Given the description of an element on the screen output the (x, y) to click on. 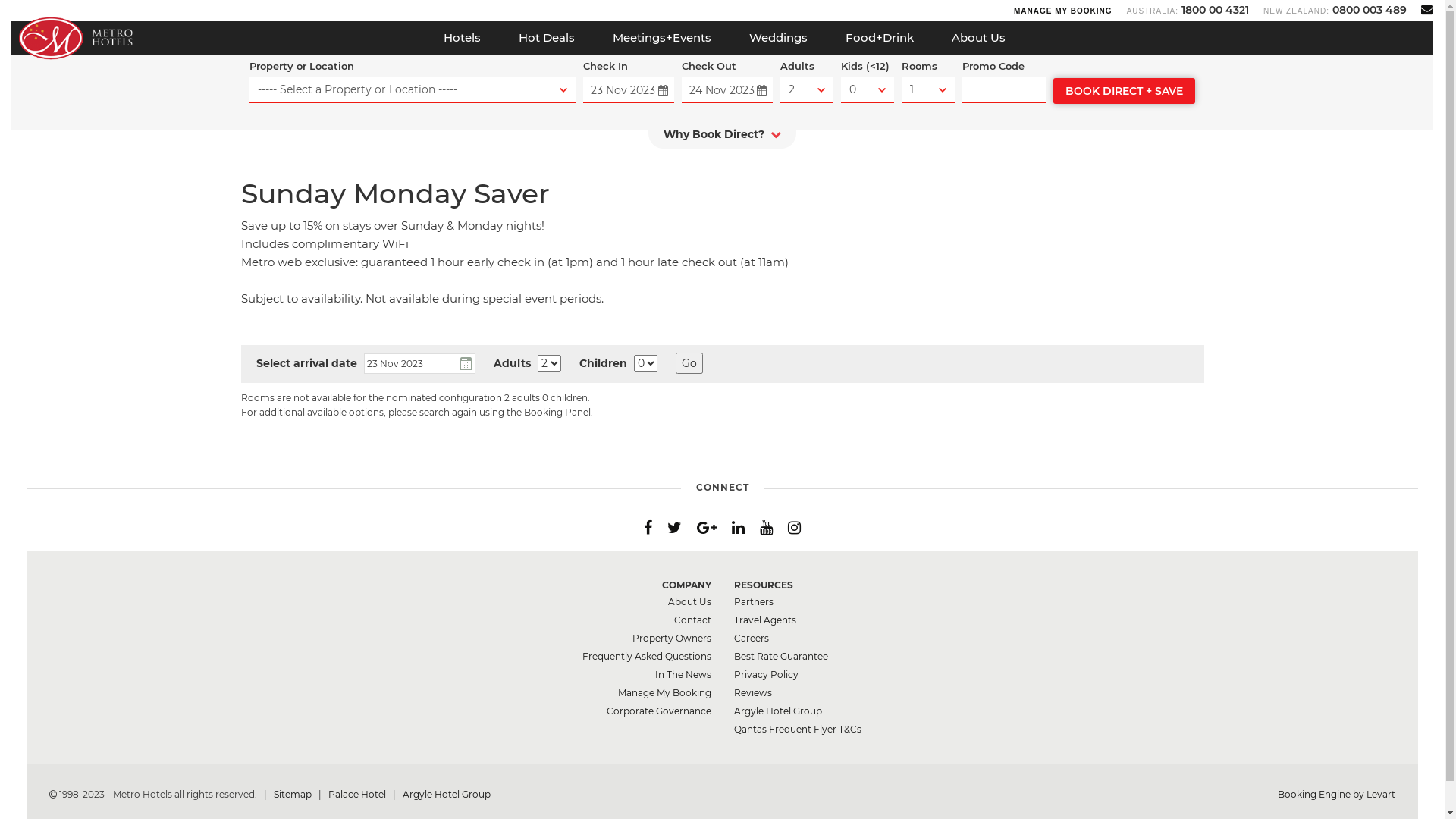
Travel Agents Element type: text (765, 619)
Hotels Element type: text (461, 38)
Property Owners Element type: text (671, 637)
Hot Deals Element type: text (545, 38)
Privacy Policy Element type: text (766, 674)
Sitemap Element type: text (293, 794)
Partners Element type: text (753, 601)
Careers Element type: text (751, 637)
Meetings+Events Element type: text (661, 38)
MANAGE MY BOOKING Element type: text (1062, 10)
Best Rate Guarantee Element type: text (781, 656)
Weddings Element type: text (777, 38)
Qantas Frequent Flyer T&Cs Element type: text (797, 728)
About Us Element type: text (688, 601)
Argyle Hotel Group Element type: text (778, 710)
Corporate Governance Element type: text (658, 710)
Why Book Direct? Element type: text (722, 137)
BOOK DIRECT + SAVE Element type: text (1124, 90)
Palace Hotel Element type: text (358, 794)
Contact Element type: text (691, 619)
Booking Engine by Levart Element type: text (1336, 794)
Reviews Element type: text (752, 692)
Contact Us Element type: hover (1427, 9)
Manage My Booking Element type: text (663, 692)
Go Element type: text (688, 362)
Food+Drink Element type: text (879, 38)
In The News Element type: text (683, 674)
Frequently Asked Questions Element type: text (646, 656)
Argyle Hotel Group Element type: text (446, 794)
About Us Element type: text (978, 38)
